Given the description of an element on the screen output the (x, y) to click on. 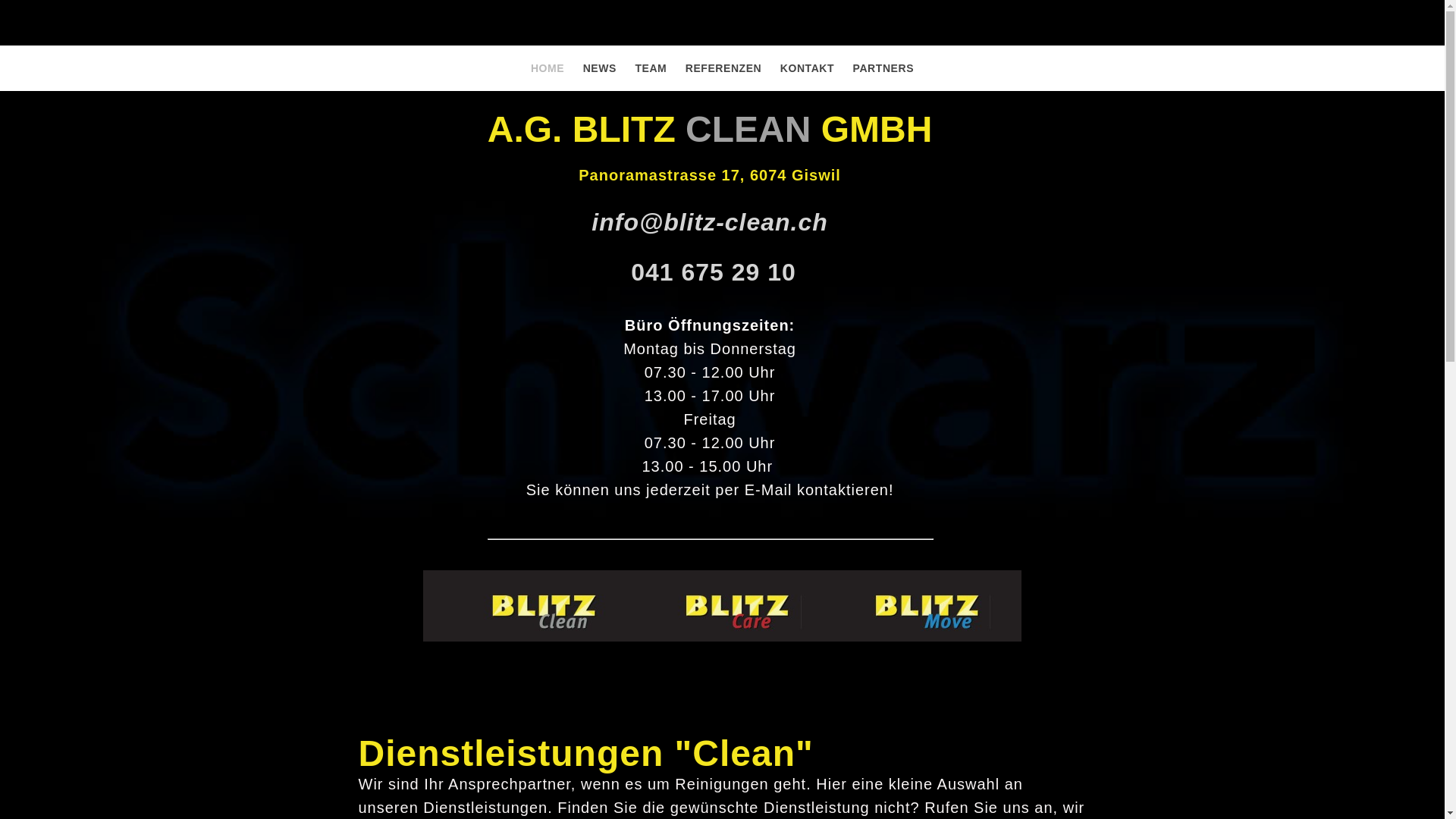
info@blitz-clean.ch Element type: text (709, 221)
HOME Element type: text (547, 68)
REFERENZEN Element type: text (723, 68)
PARTNERS Element type: text (883, 68)
NEWS Element type: text (599, 68)
TEAM Element type: text (650, 68)
KONTAKT Element type: text (807, 68)
